Given the description of an element on the screen output the (x, y) to click on. 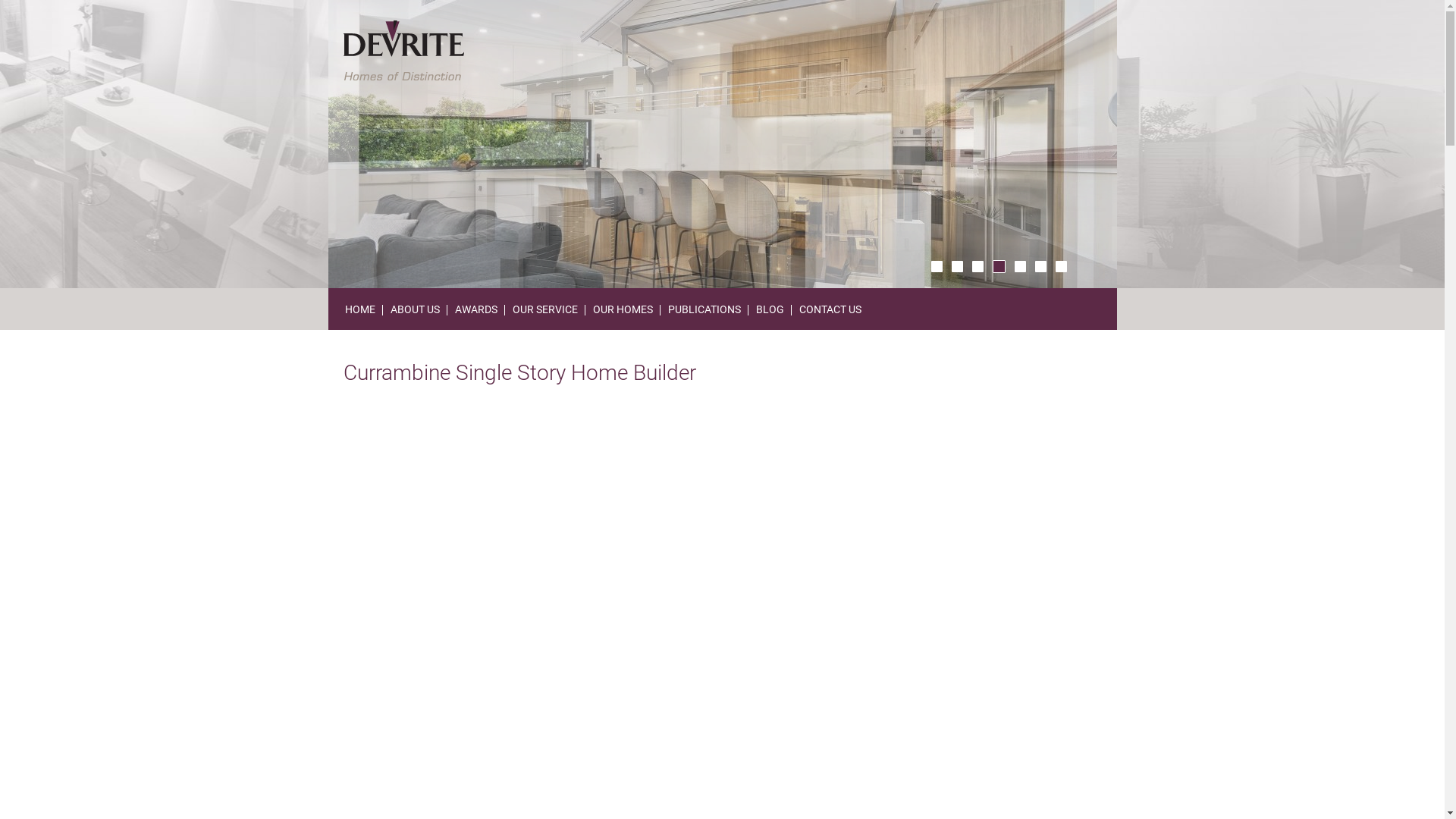
OUR SERVICE Element type: text (545, 309)
1 Element type: text (936, 266)
BLOG Element type: text (768, 309)
7 Element type: text (1060, 266)
Devrite Custom Home Builders Perth Element type: text (402, 50)
3 Element type: text (978, 266)
PUBLICATIONS Element type: text (703, 309)
AWARDS Element type: text (476, 309)
OUR HOMES Element type: text (622, 309)
4 Element type: text (998, 266)
5 Element type: text (1020, 266)
CONTACT US Element type: text (830, 309)
6 Element type: text (1039, 266)
ABOUT US Element type: text (414, 309)
HOME Element type: text (359, 309)
2 Element type: text (956, 266)
